Given the description of an element on the screen output the (x, y) to click on. 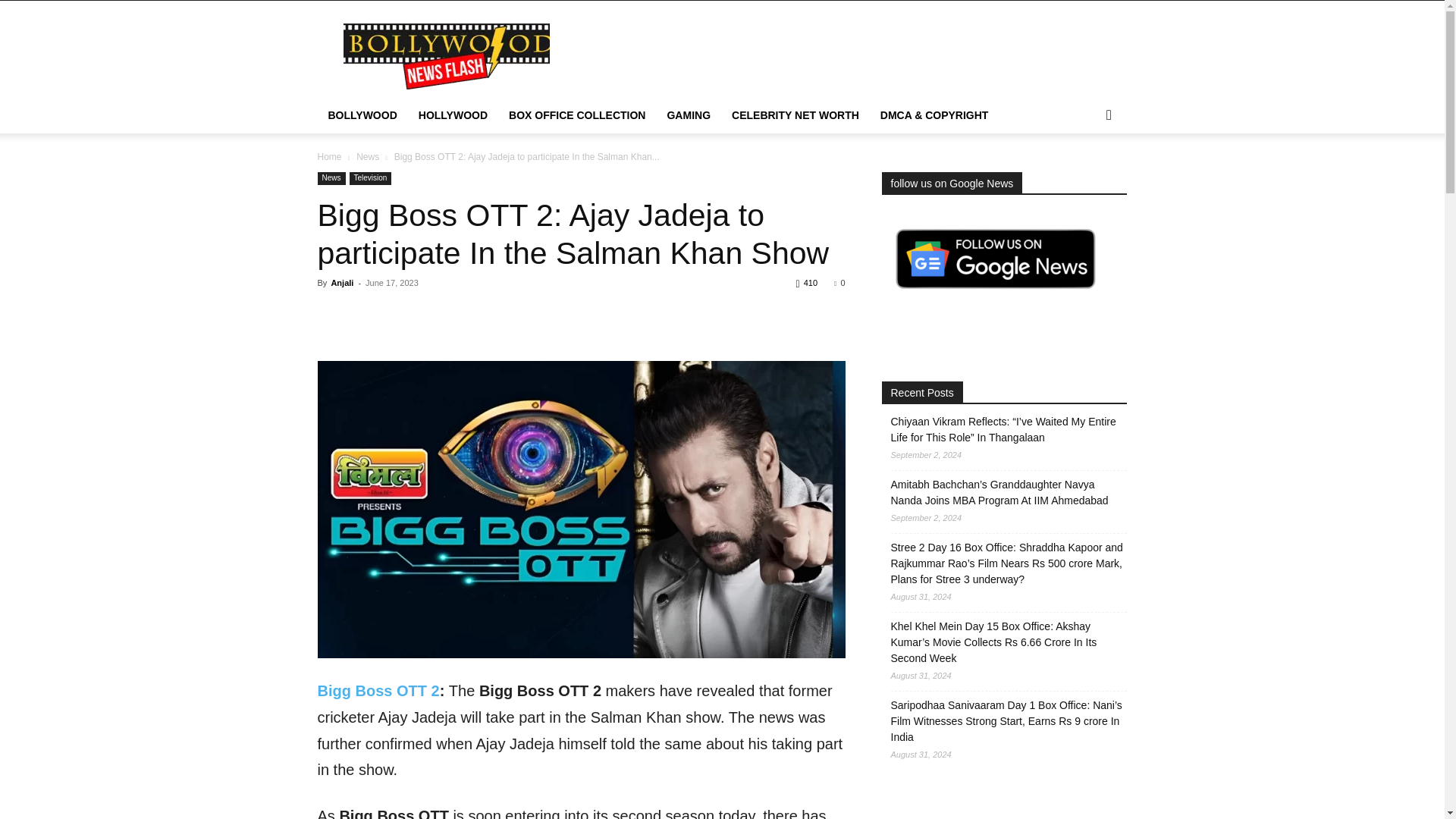
GAMING (688, 115)
Home (328, 156)
HOLLYWOOD (452, 115)
0 (839, 282)
Search (1085, 175)
CELEBRITY NET WORTH (794, 115)
Television (370, 178)
Bigg Boss OTT 2 (378, 690)
News (331, 178)
BOLLYWOOD (362, 115)
